Given the description of an element on the screen output the (x, y) to click on. 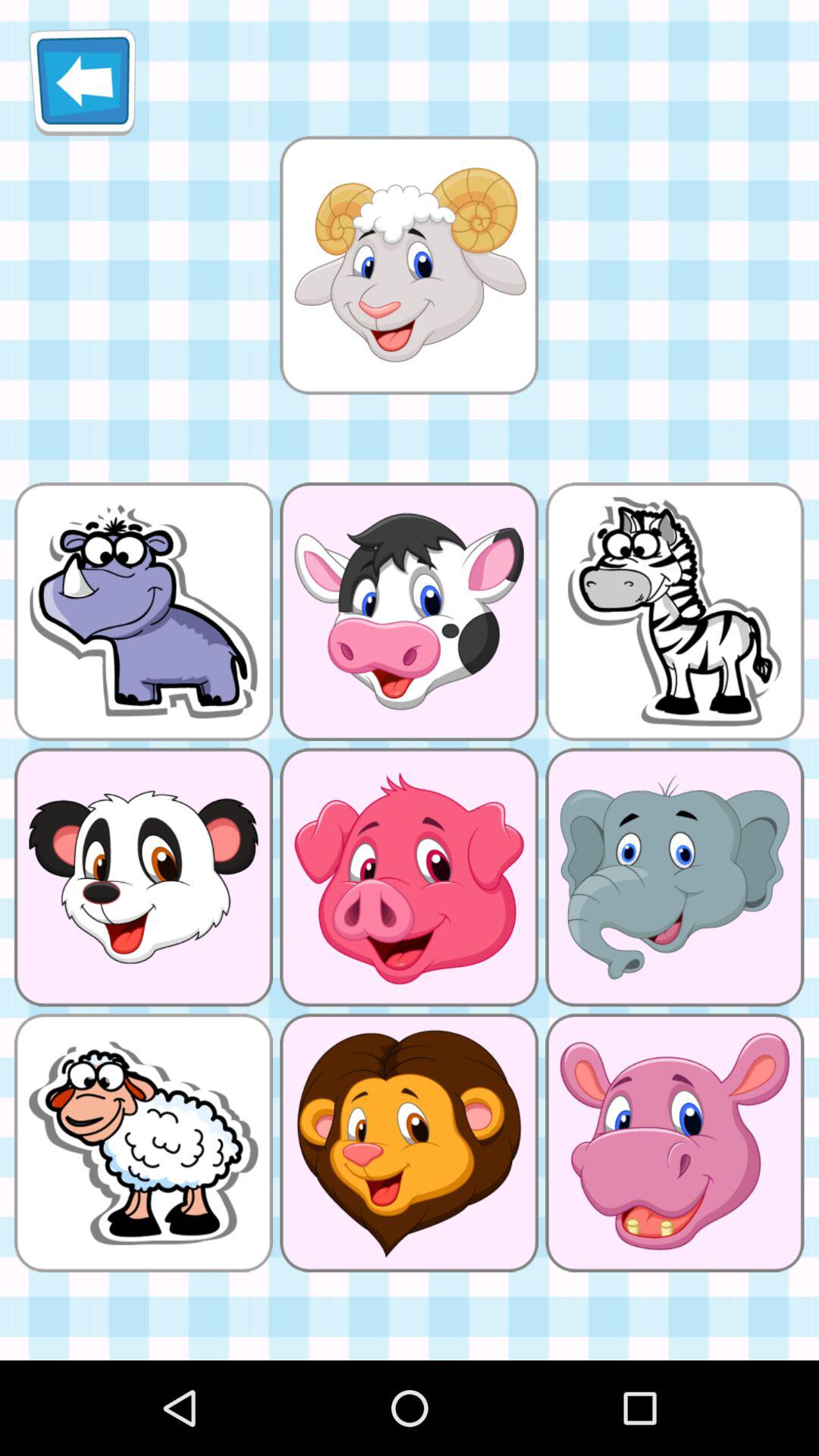
go back (82, 82)
